Given the description of an element on the screen output the (x, y) to click on. 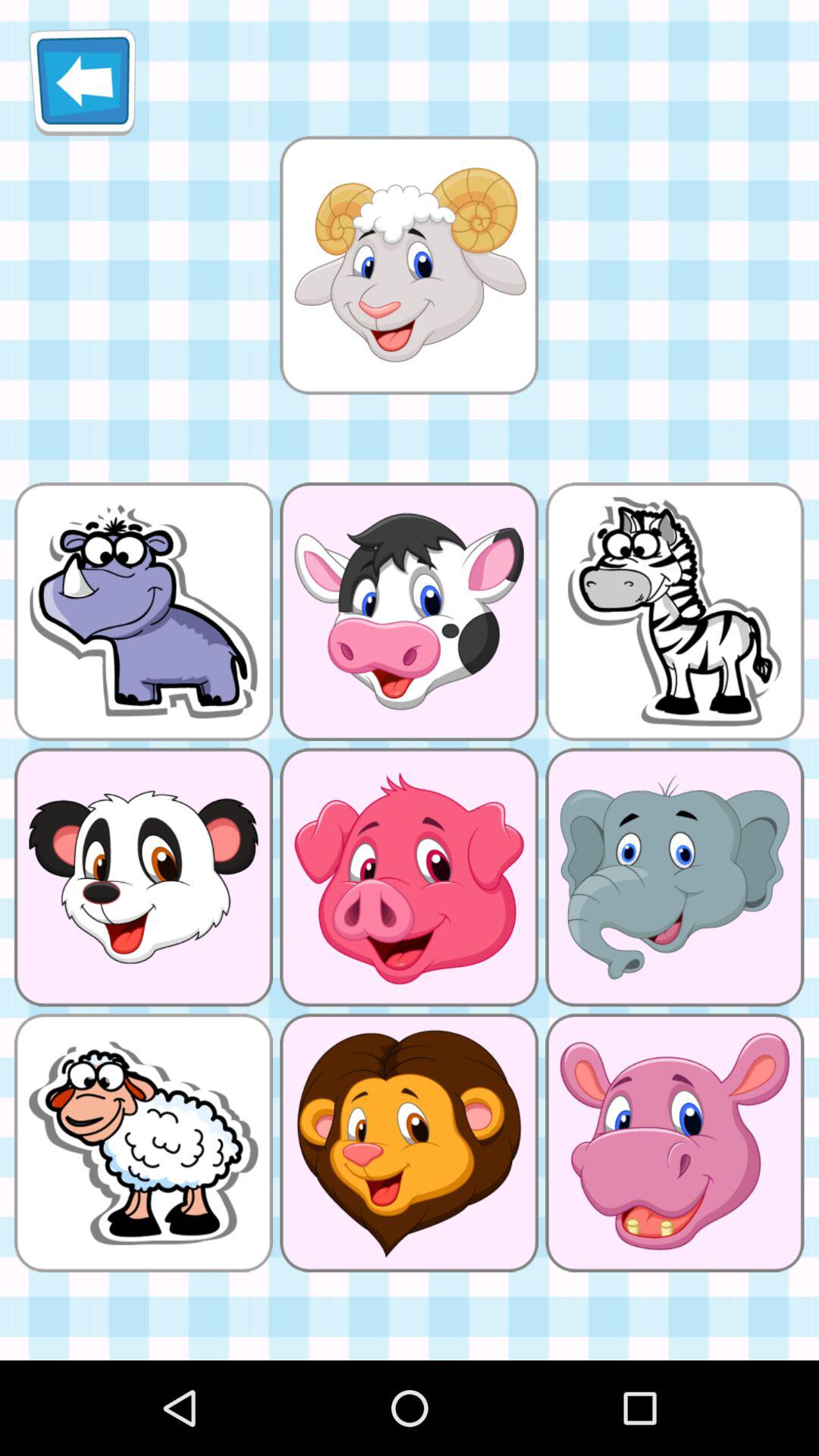
go back (82, 82)
